Given the description of an element on the screen output the (x, y) to click on. 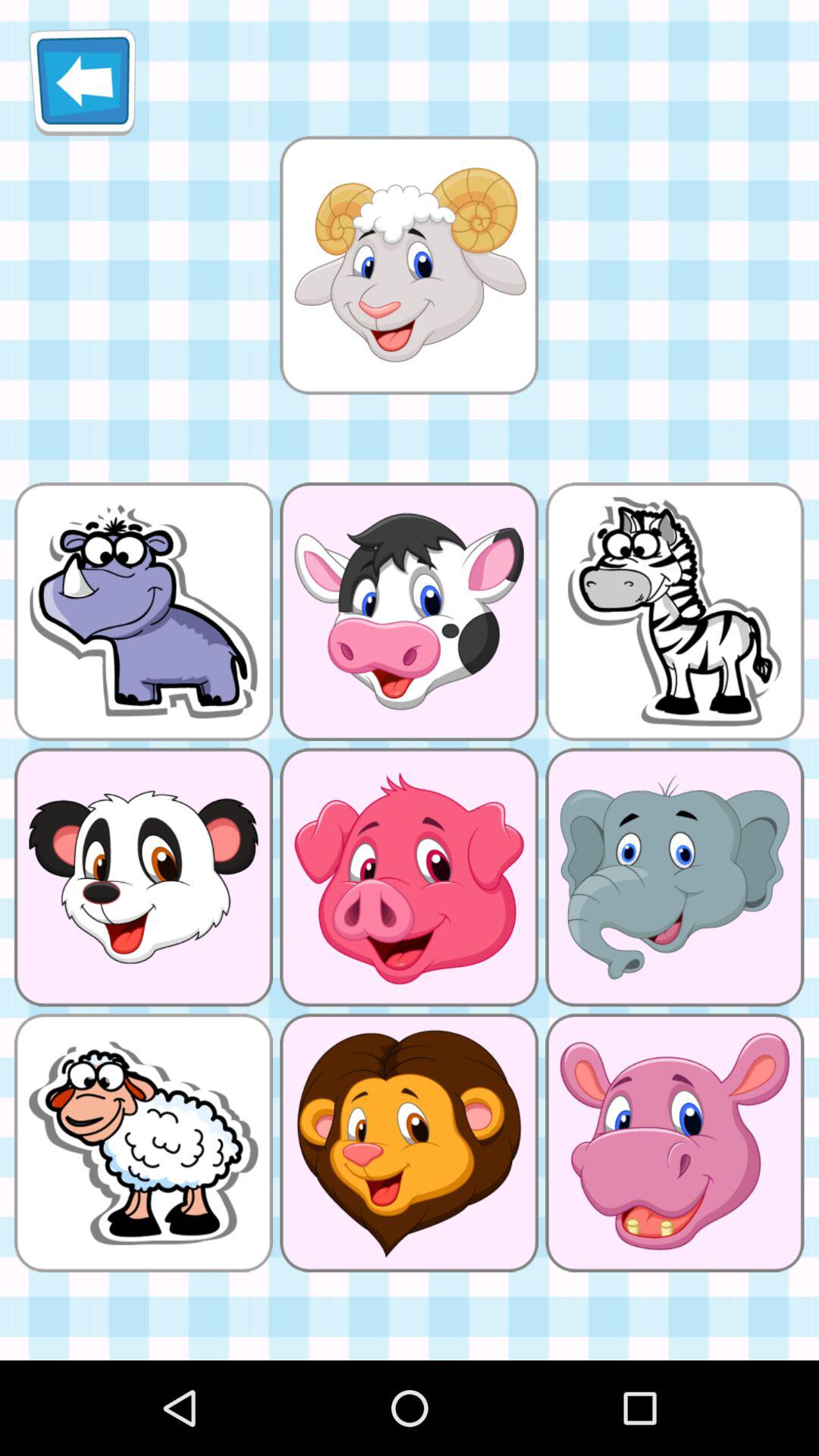
go back (82, 82)
